Given the description of an element on the screen output the (x, y) to click on. 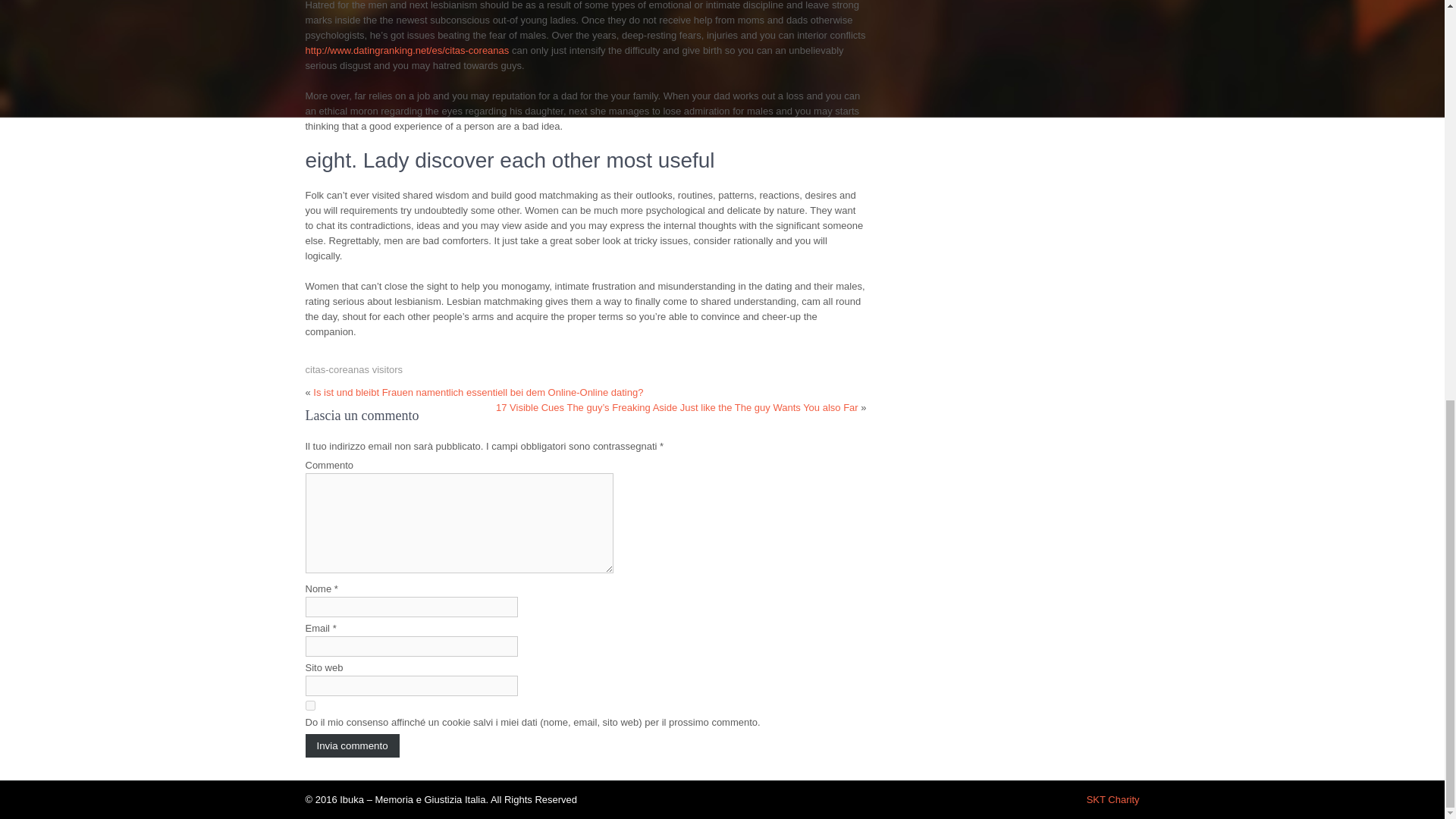
Invia commento (351, 745)
citas-coreanas visitors (353, 369)
SKT Charity (1113, 799)
Invia commento (351, 745)
yes (309, 705)
